Given the description of an element on the screen output the (x, y) to click on. 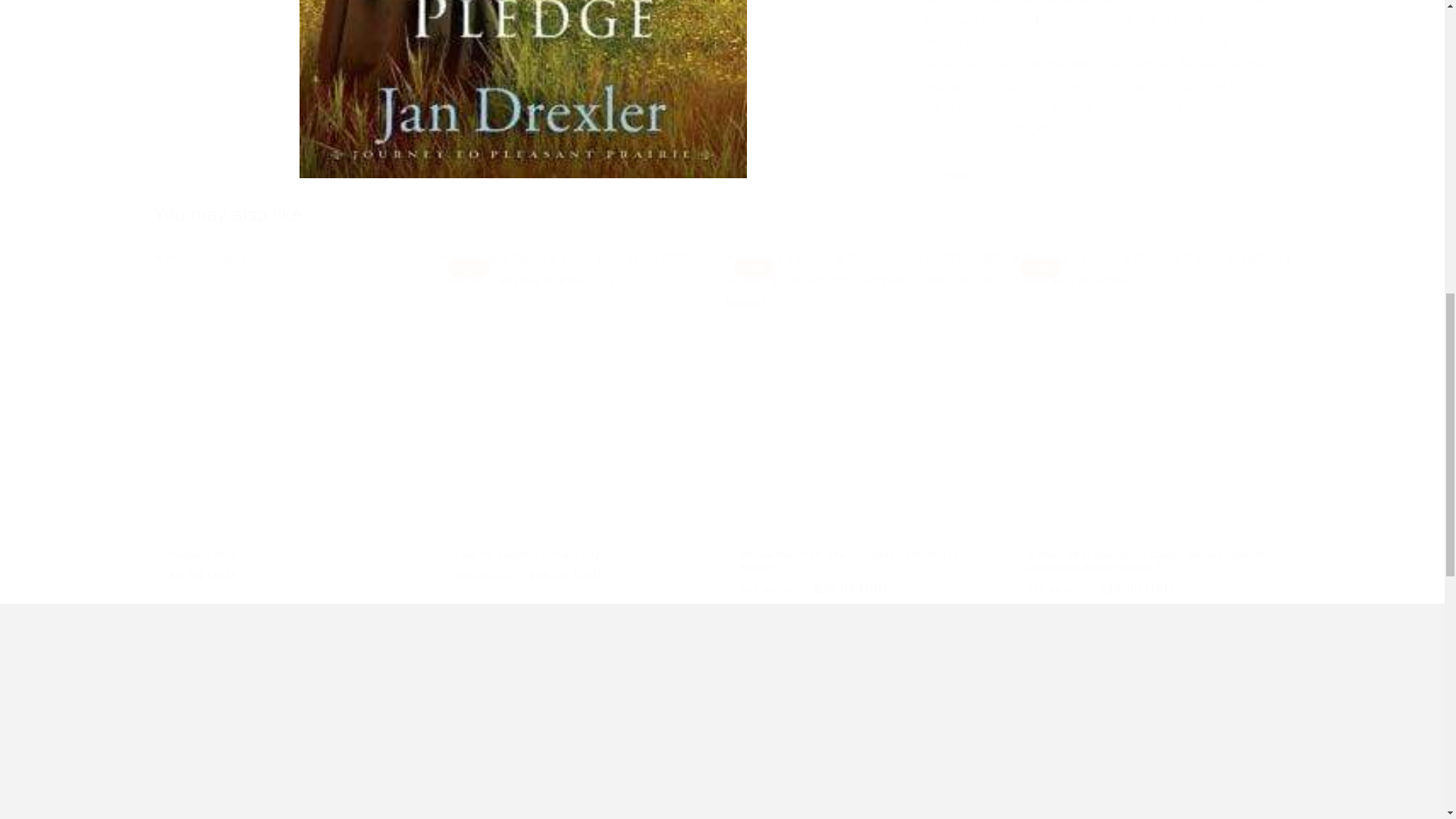
Open media 1 in modal (522, 13)
